Given the description of an element on the screen output the (x, y) to click on. 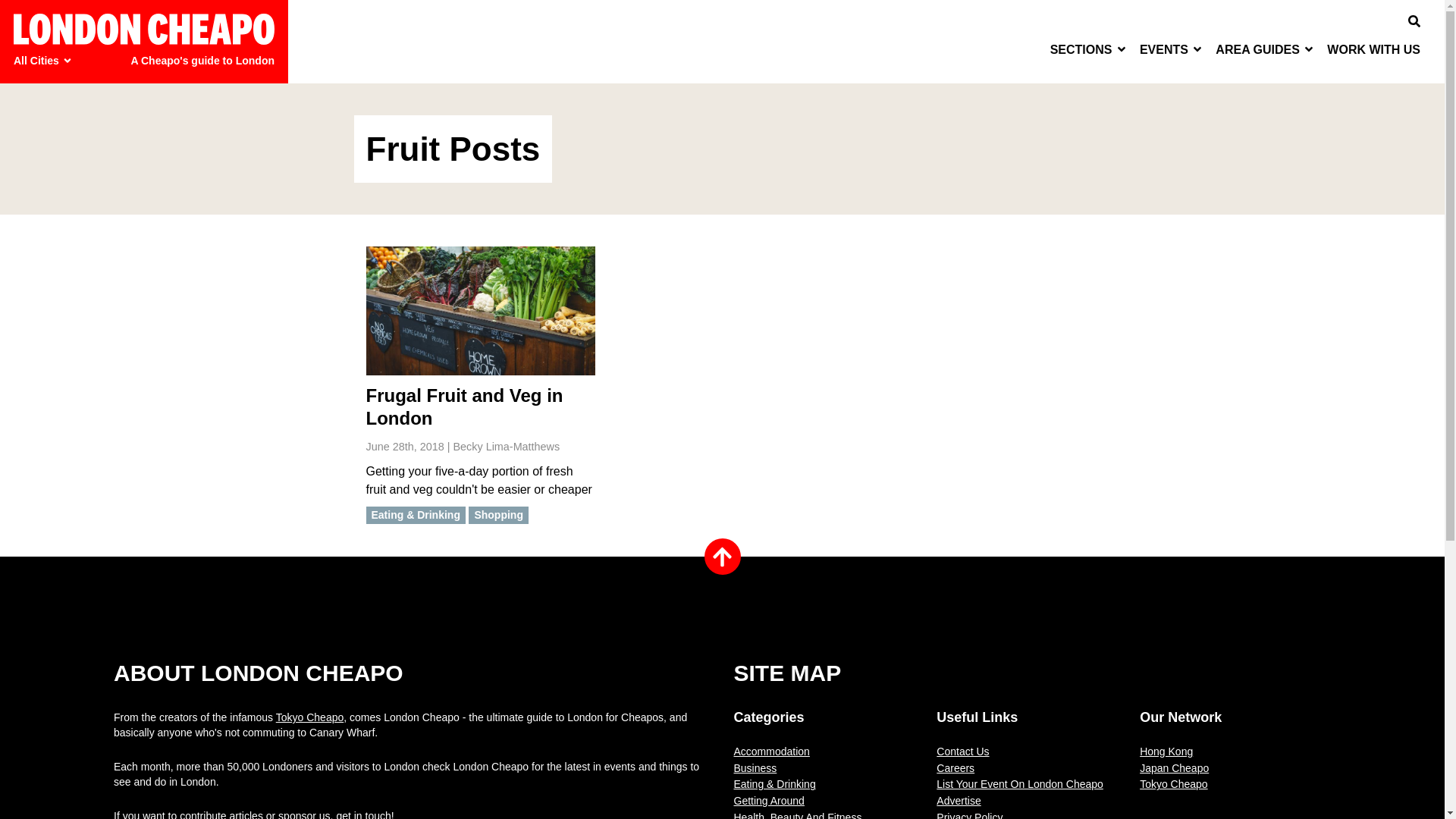
Sections (1088, 49)
SECTIONS (1088, 49)
AREA GUIDES (1264, 49)
EVENTS (1171, 49)
London Cheapo Homepage (144, 28)
All Cities (45, 60)
London Cheapo (144, 29)
Events (1171, 49)
